Given the description of an element on the screen output the (x, y) to click on. 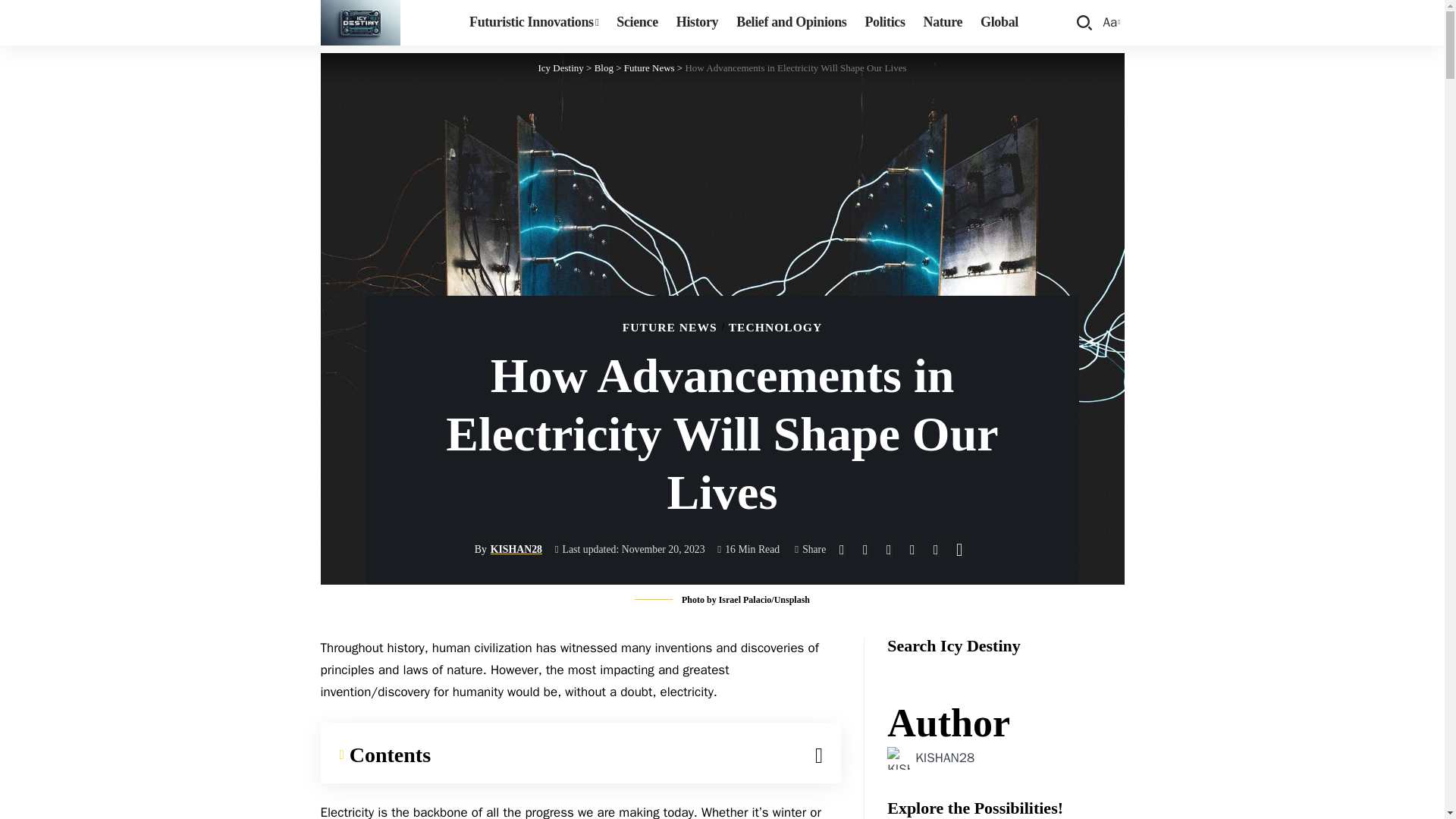
Go to Icy Destiny. (560, 67)
Go to the Future News Category archives. (649, 67)
Icy Destiny (359, 22)
History (696, 22)
Science (636, 22)
KISHAN28 (944, 757)
Nature (943, 22)
Icy Destiny (560, 67)
Global (999, 22)
Belief and Opinions (791, 22)
Go to Blog. (1110, 23)
Futuristic Innovations (603, 67)
Blog (533, 22)
Politics (603, 67)
